Given the description of an element on the screen output the (x, y) to click on. 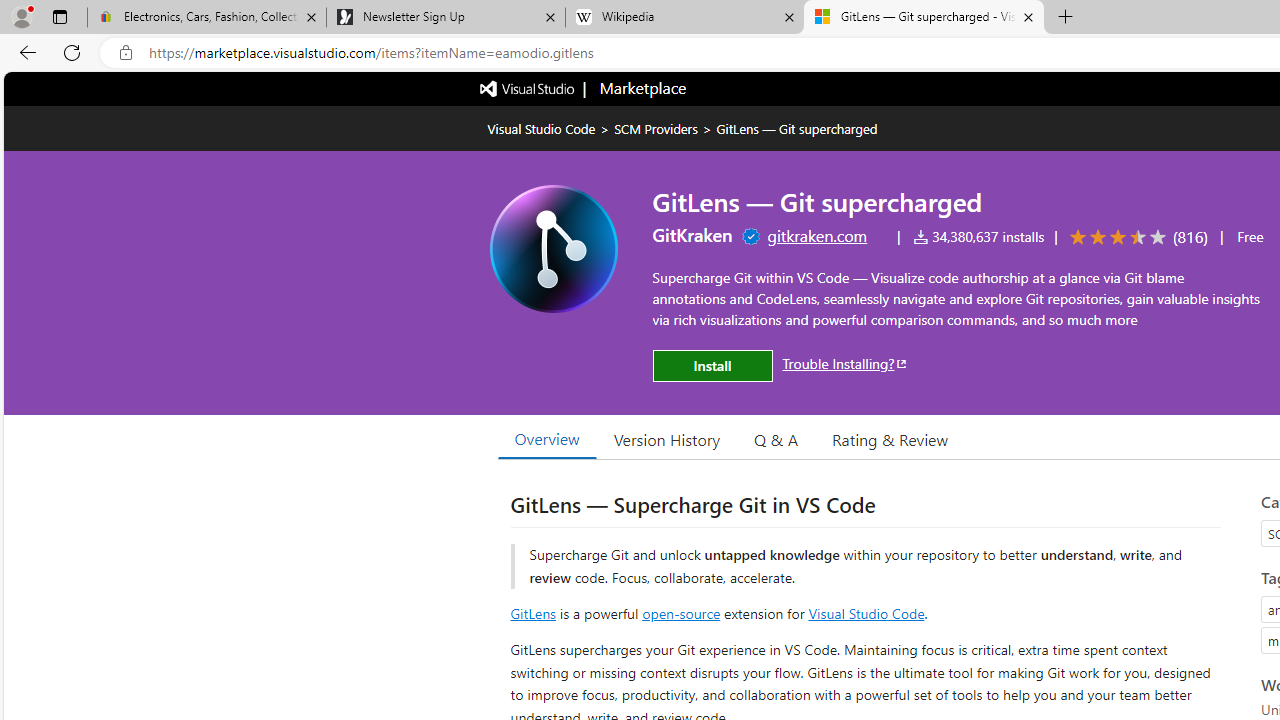
More from GitKraken publisher (692, 234)
GitLens (532, 612)
Newsletter Sign Up (445, 17)
Visual Studio Code (866, 612)
Average rating: 3.7 out of 5. Navigate to user reviews. (1135, 237)
Visual Studio logo (528, 87)
Version History (667, 439)
